Given the description of an element on the screen output the (x, y) to click on. 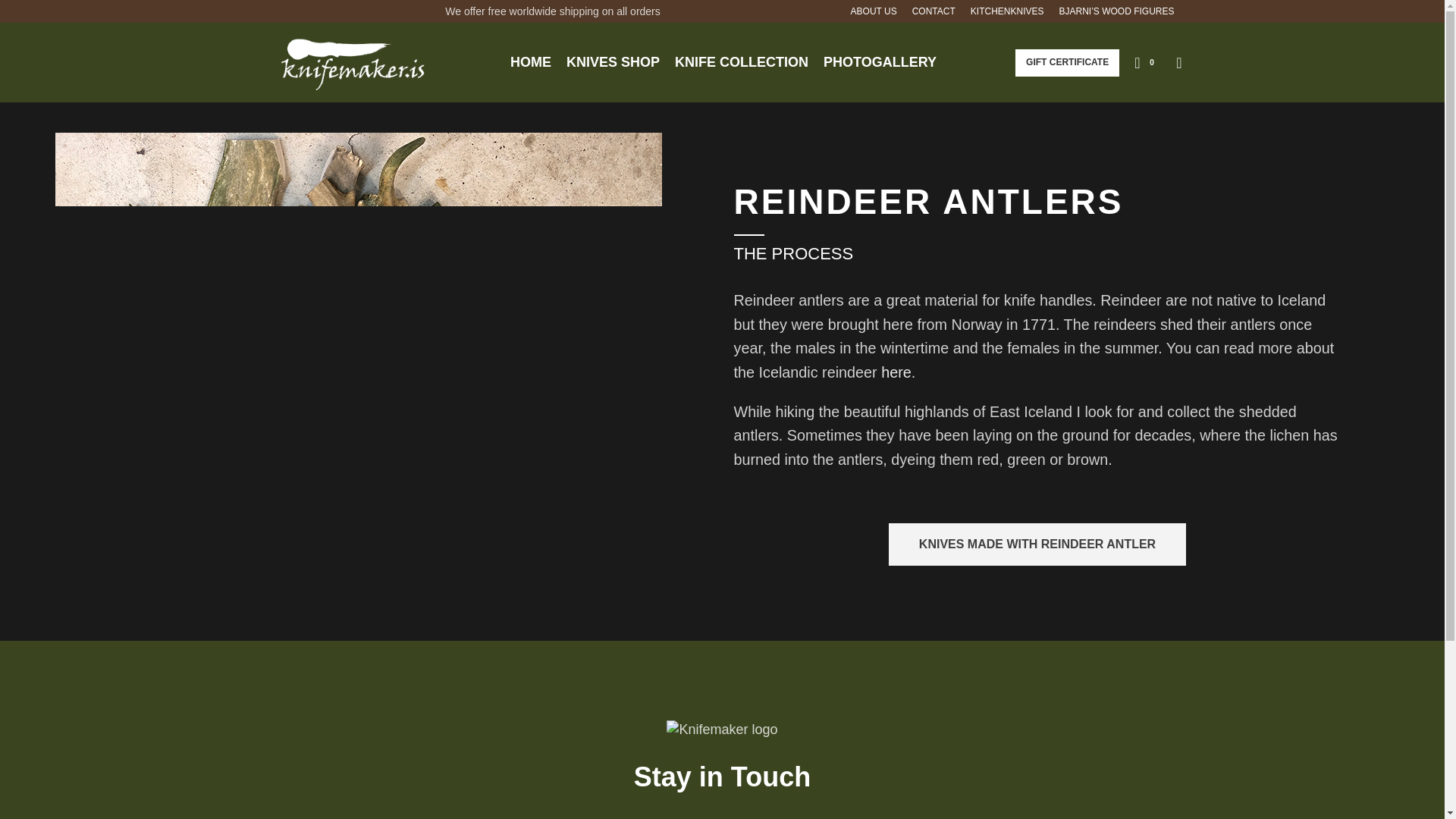
HOME (531, 61)
Knifemaker logo (721, 729)
KNIVES MADE WITH REINDEER ANTLER (1037, 544)
ABOUT US (873, 13)
KNIFE COLLECTION (741, 61)
KITCHENKNIVES (1007, 13)
CONTACT (933, 13)
here (895, 371)
PHOTOGALLERY (880, 61)
0 (1146, 61)
Shopping cart (1146, 61)
GIFT CERTIFICATE (1066, 62)
KNIVES SHOP (612, 61)
